Given the description of an element on the screen output the (x, y) to click on. 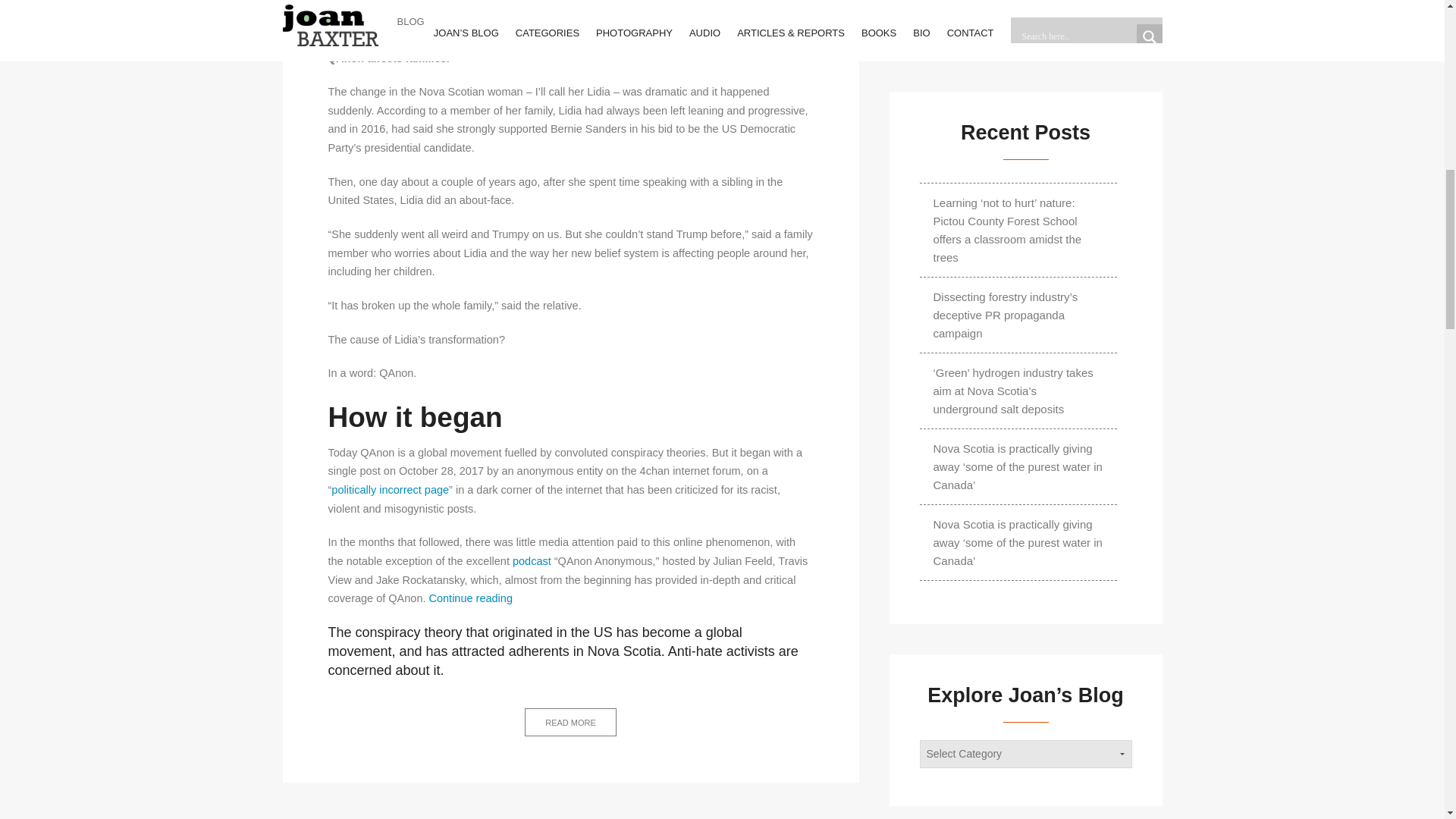
politically incorrect page (389, 490)
powerful and heart-wrenching account (654, 39)
podcast (470, 598)
Submit (531, 561)
